Given the description of an element on the screen output the (x, y) to click on. 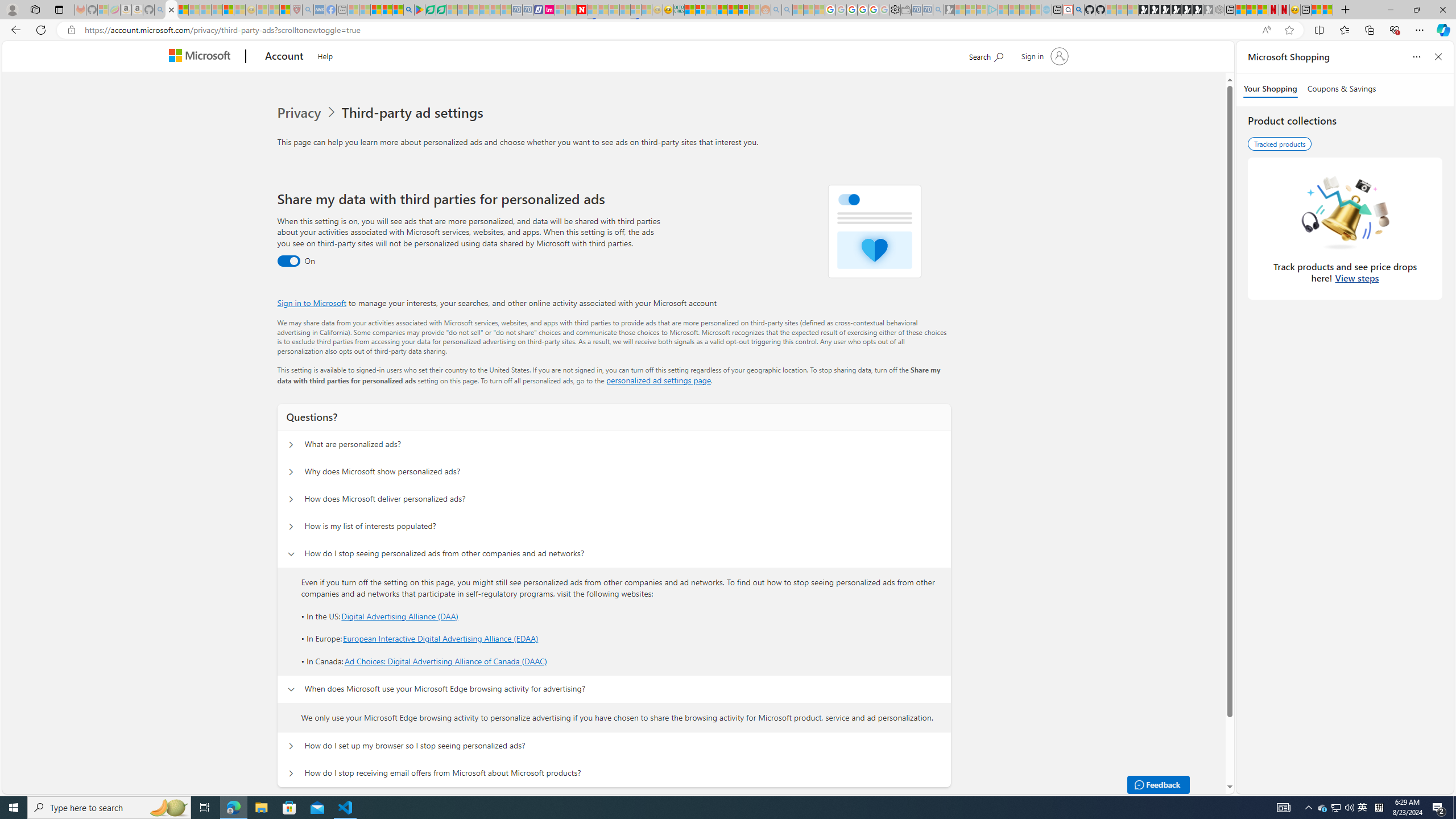
Questions? Why does Microsoft show personalized ads? (290, 472)
Third party data sharing toggle (287, 260)
Pets - MSN (387, 9)
Local - MSN (285, 9)
